Given the description of an element on the screen output the (x, y) to click on. 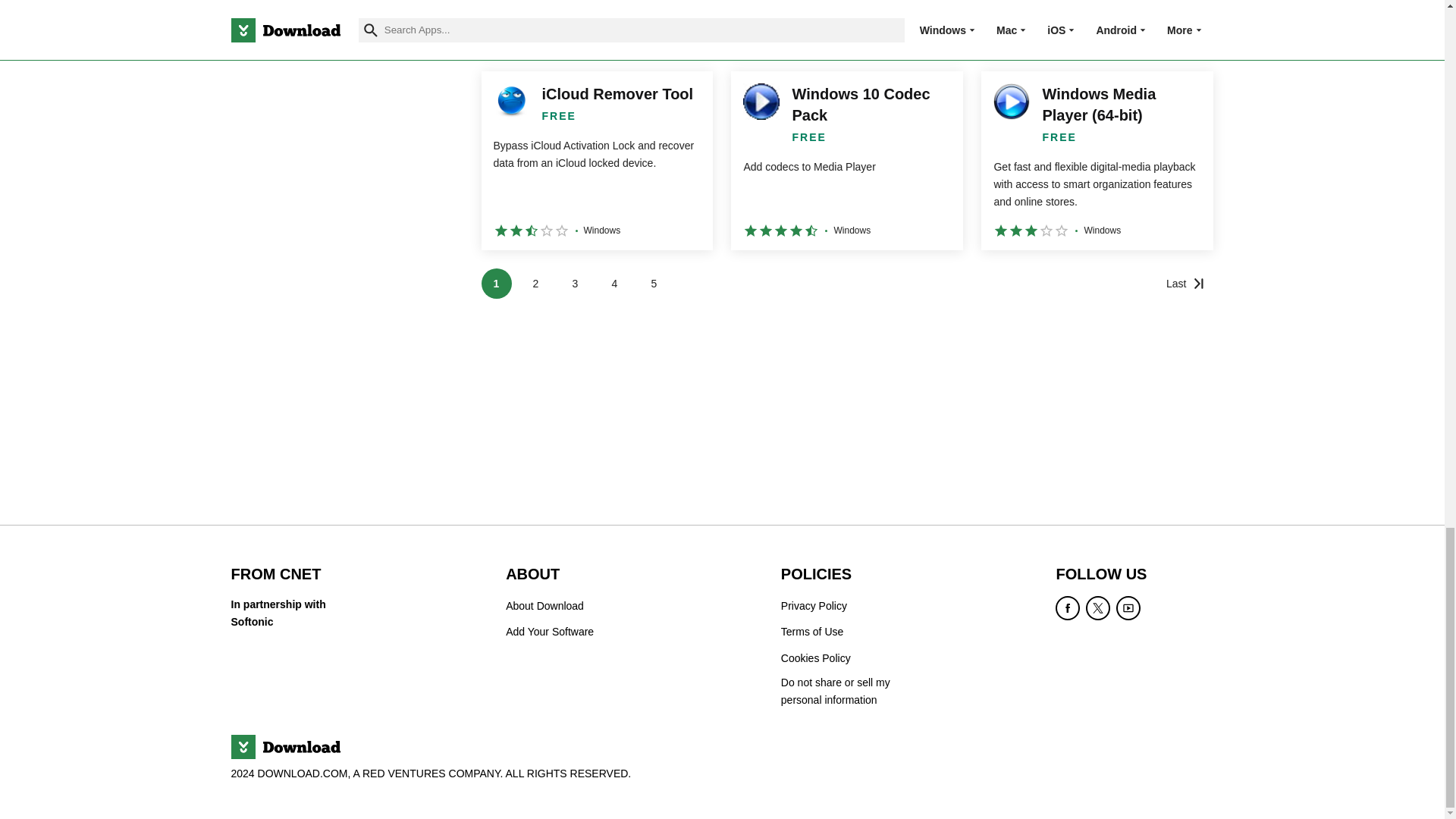
SAX Video Player (596, 26)
Midi Player (846, 26)
